Given the description of an element on the screen output the (x, y) to click on. 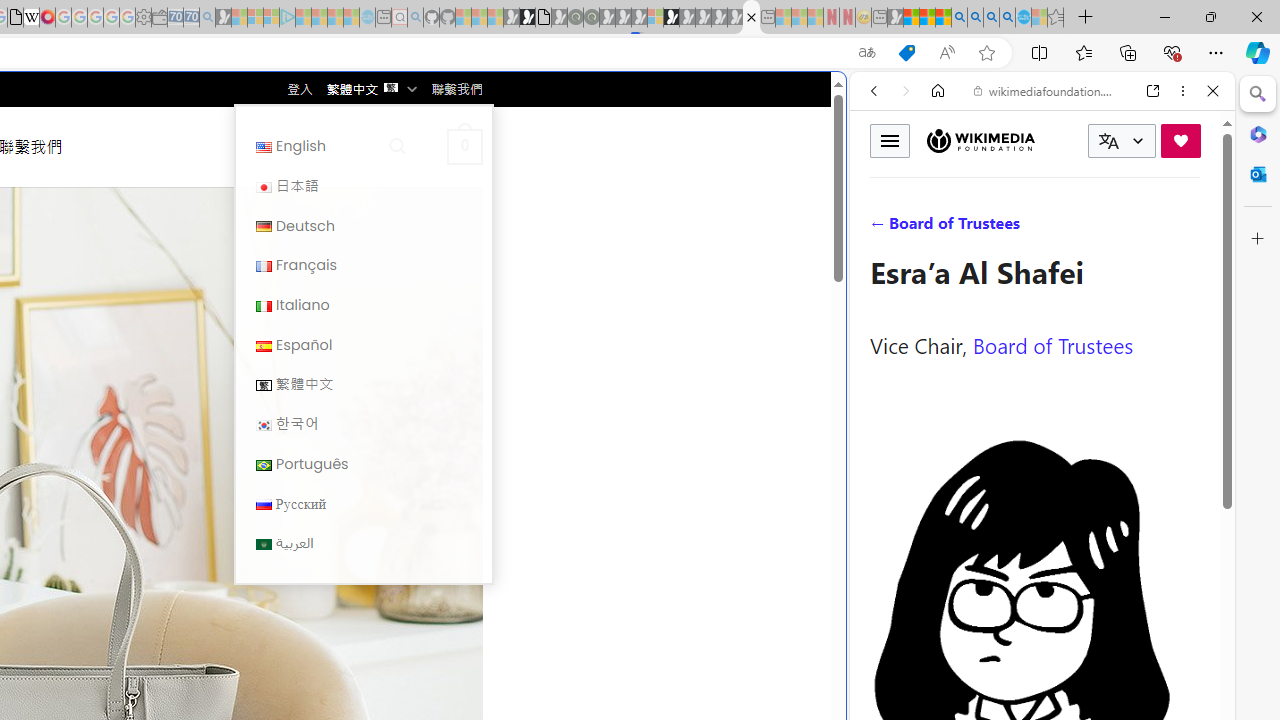
MediaWiki (47, 17)
This site has coupons! Shopping in Microsoft Edge, 4 (906, 53)
MSN - Sleeping (895, 17)
Deutsch Deutsch (363, 225)
